Given the description of an element on the screen output the (x, y) to click on. 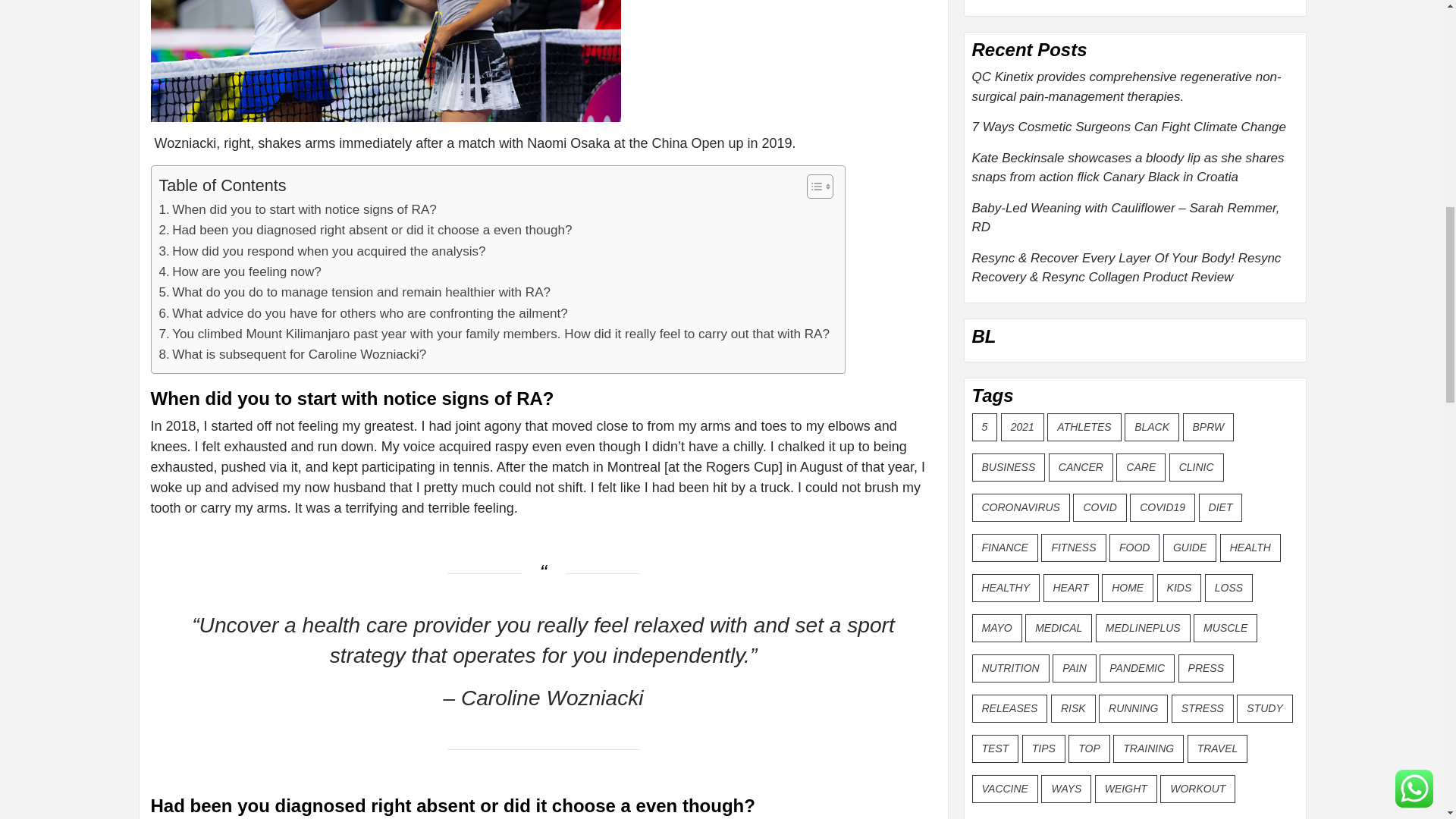
When did you to start with notice signs of RA? (297, 209)
How did you respond when you acquired the analysis? (322, 250)
What is subsequent for Caroline Wozniacki? (292, 353)
How are you feeling now? (239, 271)
How are you feeling now? (239, 271)
What is subsequent for Caroline Wozniacki? (292, 353)
